Given the description of an element on the screen output the (x, y) to click on. 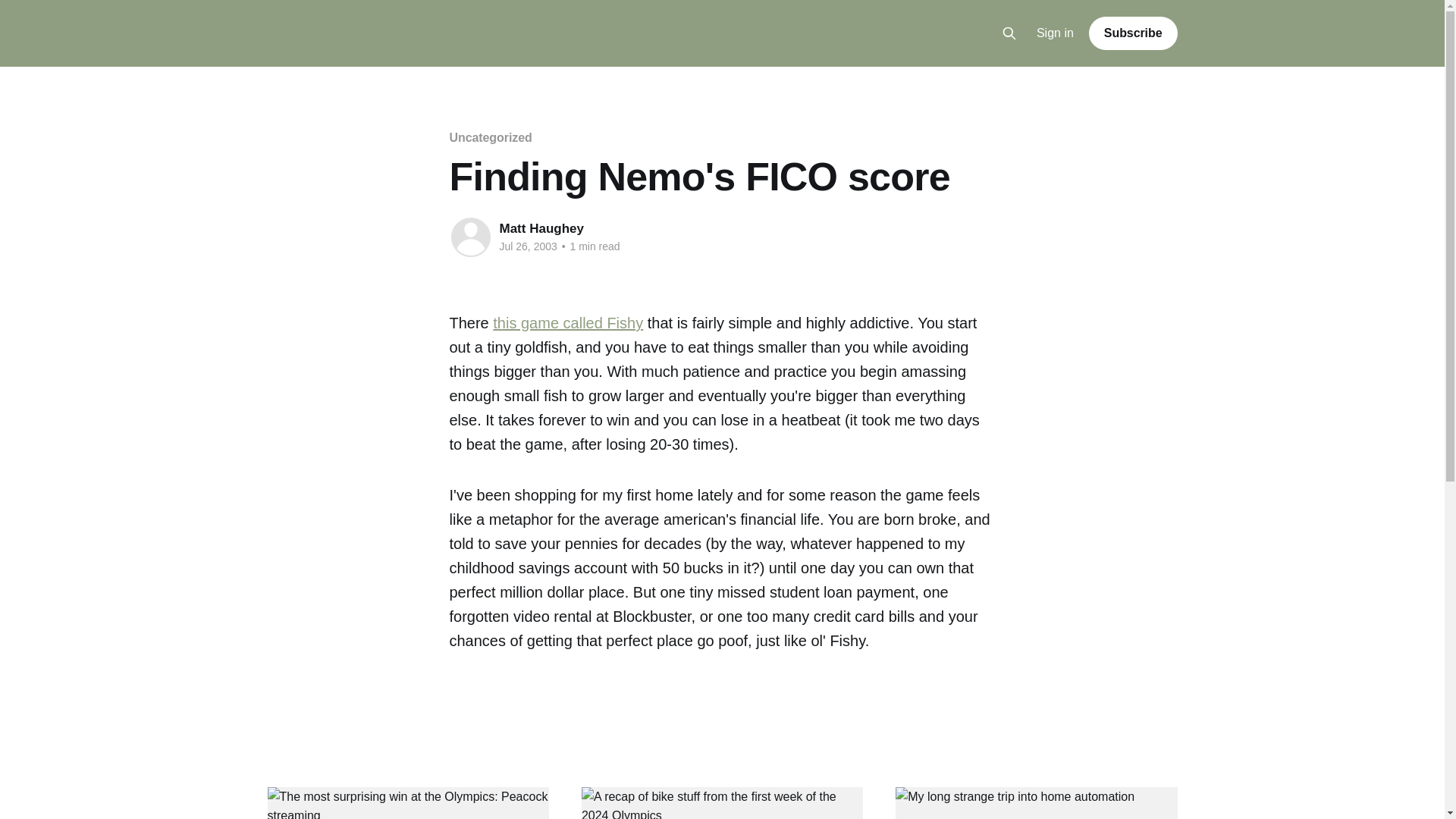
Sign in (1055, 33)
Subscribe (1133, 32)
Uncategorized (489, 137)
this game called Fishy (568, 322)
Matt Haughey (541, 228)
